Given the description of an element on the screen output the (x, y) to click on. 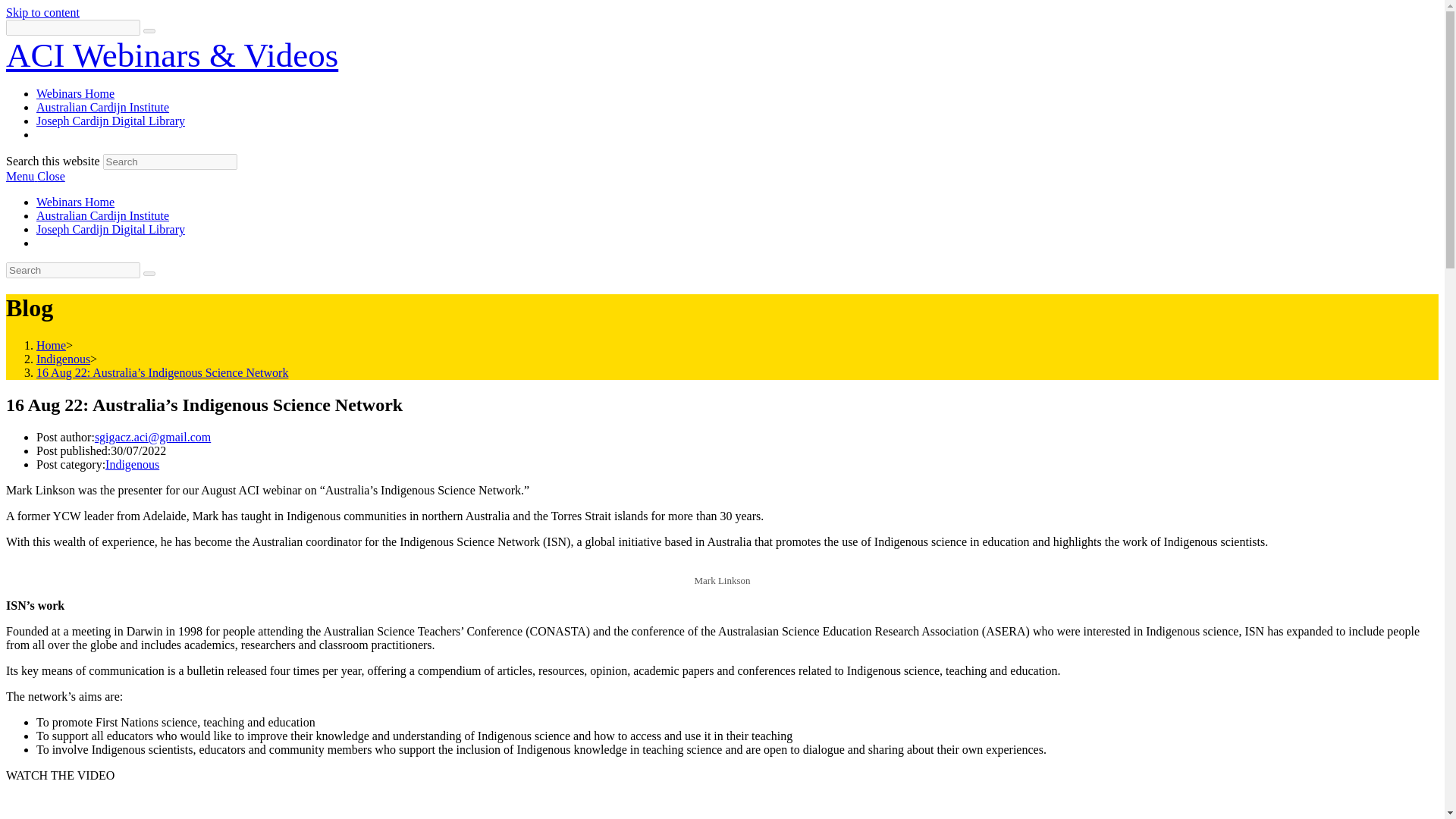
Australian Cardijn Institute (102, 106)
Joseph Cardijn Digital Library (110, 120)
Indigenous (131, 463)
Skip to content (42, 11)
Australian Cardijn Institute (102, 215)
Home (50, 345)
Menu Close (35, 175)
Webinars Home (75, 92)
Mark Linkson: Australia's Indigenous Science Network (460, 806)
Joseph Cardijn Digital Library (110, 228)
Webinars Home (75, 201)
Indigenous (63, 358)
